Given the description of an element on the screen output the (x, y) to click on. 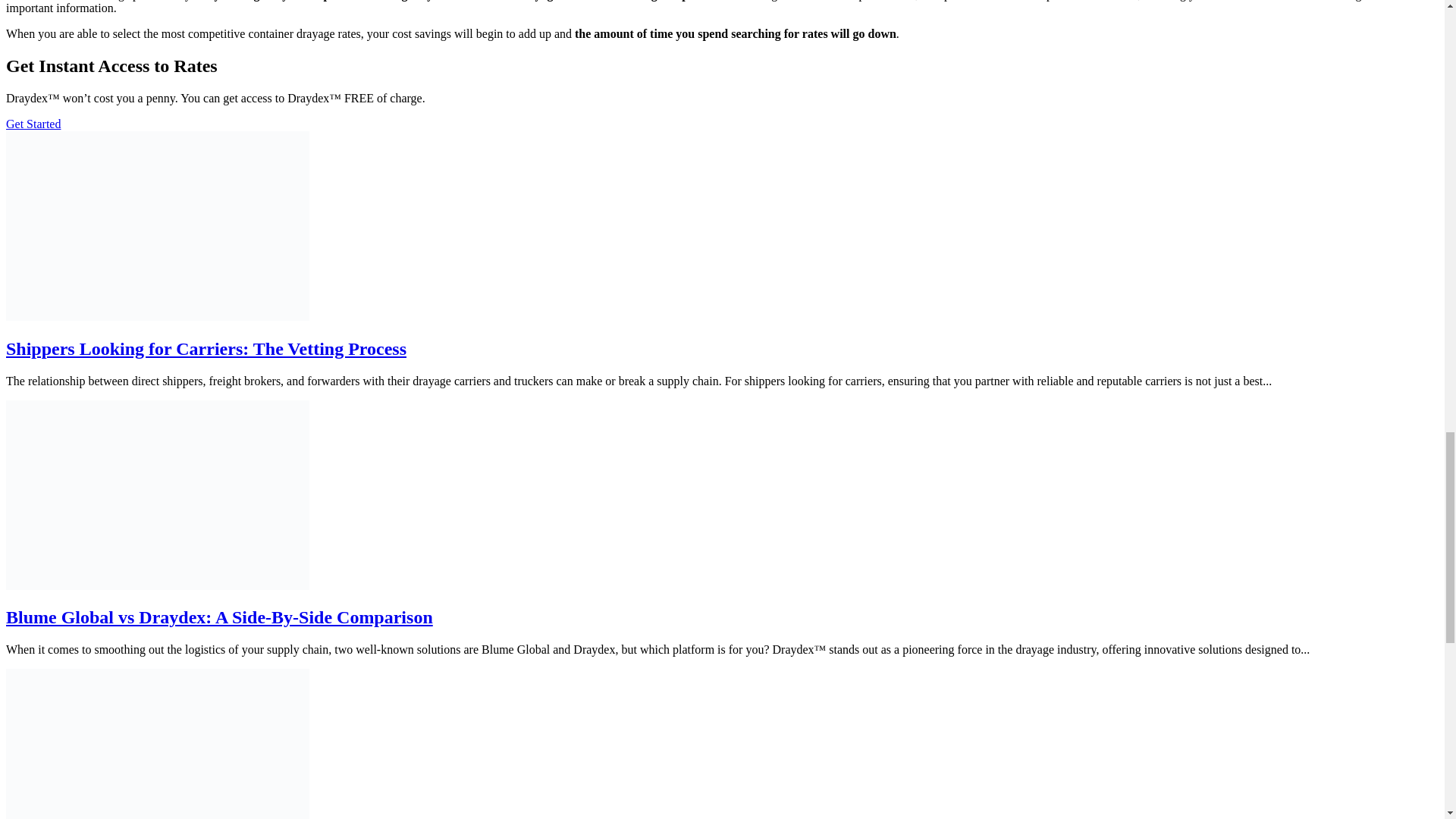
Blume Global vs Draydex: A Side-By-Side Comparison (218, 617)
Shippers Looking for Carriers: The Vetting Process (205, 348)
Get Started (33, 123)
